Given the description of an element on the screen output the (x, y) to click on. 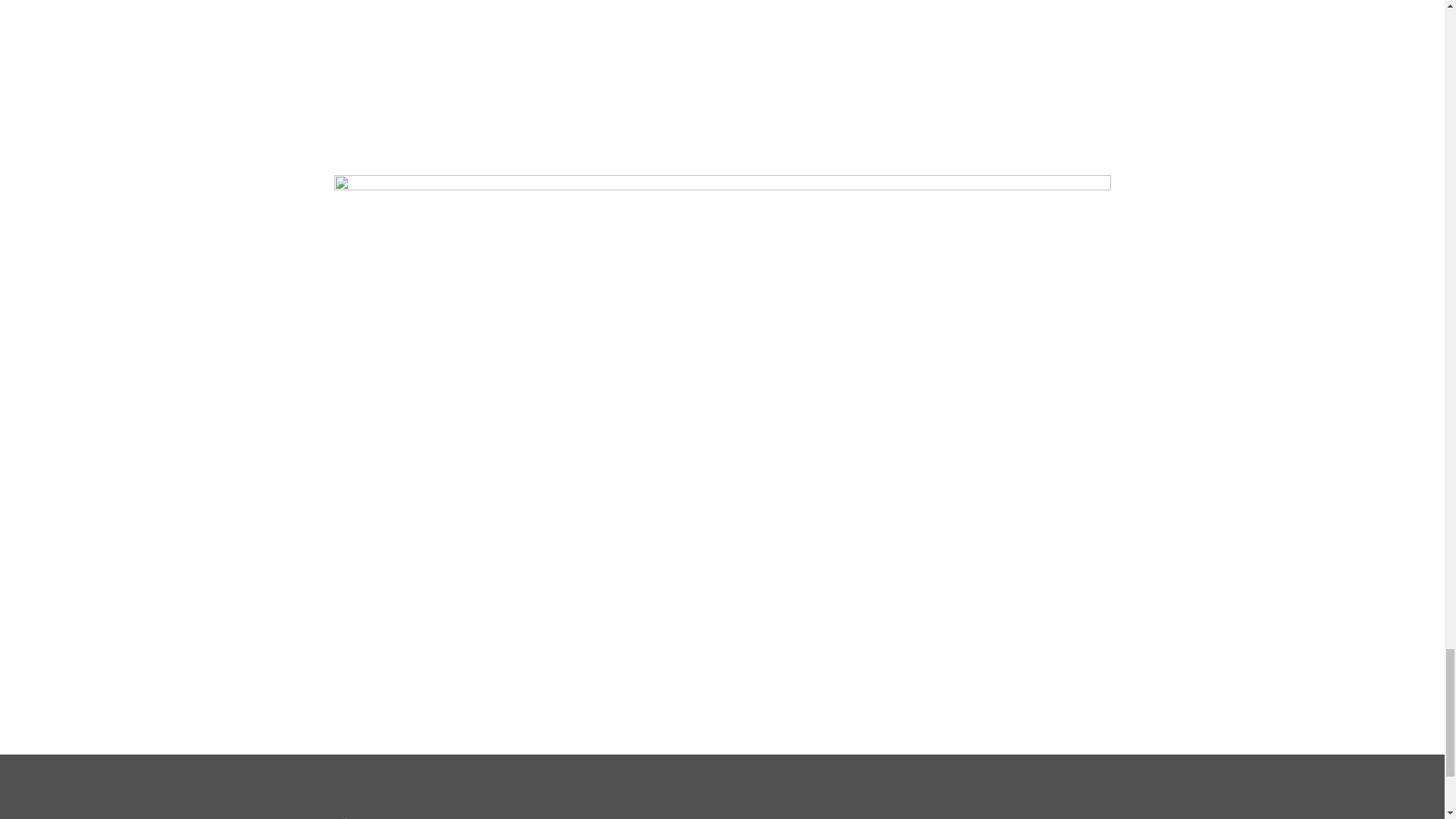
sen-uzArtboard 1 (380, 817)
